Given the description of an element on the screen output the (x, y) to click on. 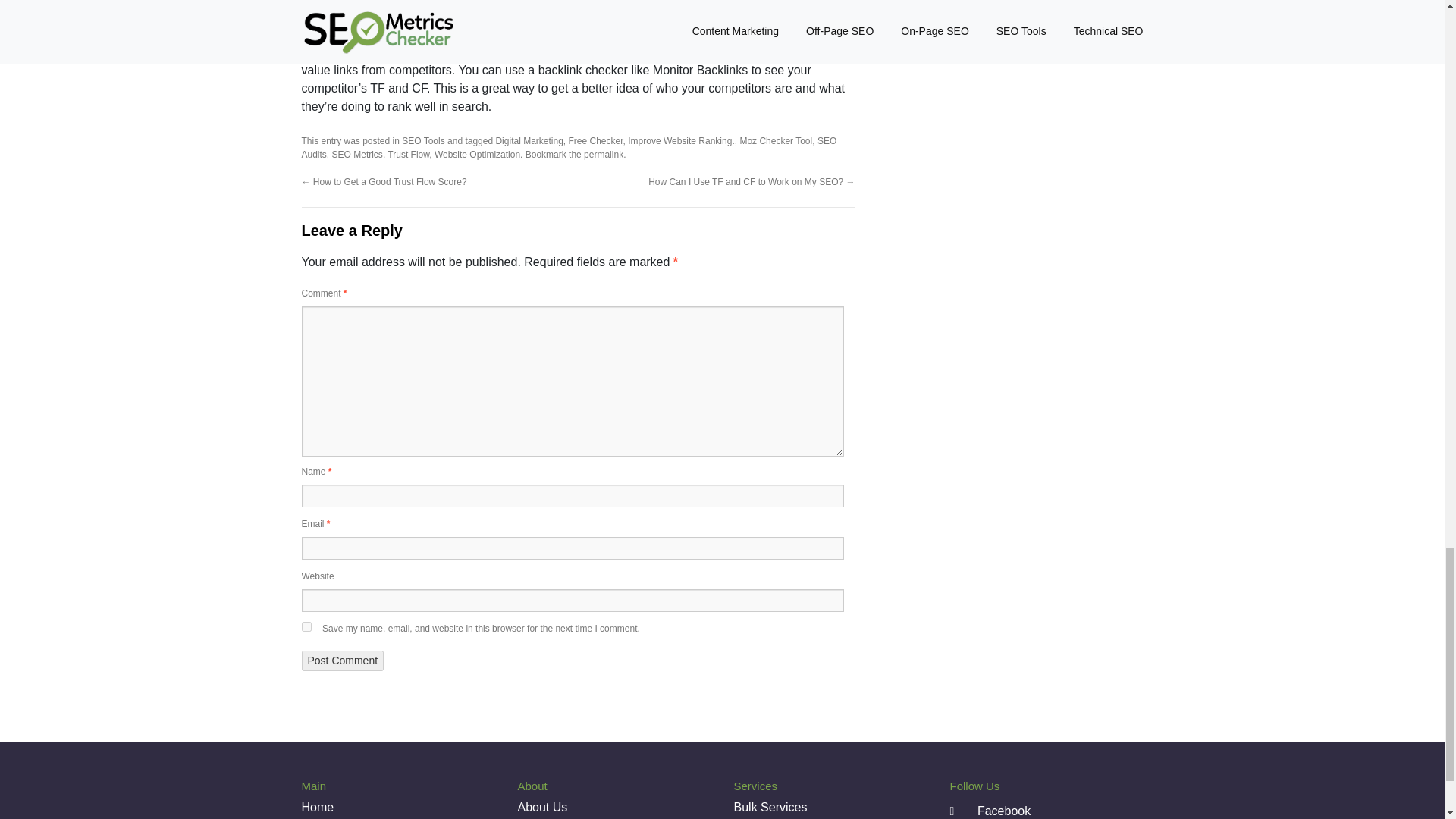
Website Optimization (476, 154)
SEO Audits (569, 147)
Post Comment (342, 660)
Trust Flow (408, 154)
Moz Checker Tool (775, 140)
Free Checker (596, 140)
Improve Website Ranking. (681, 140)
SEO Tools (422, 140)
yes (306, 626)
Digital Marketing (528, 140)
SEO Metrics (356, 154)
permalink (603, 154)
Post Comment (342, 660)
